Given the description of an element on the screen output the (x, y) to click on. 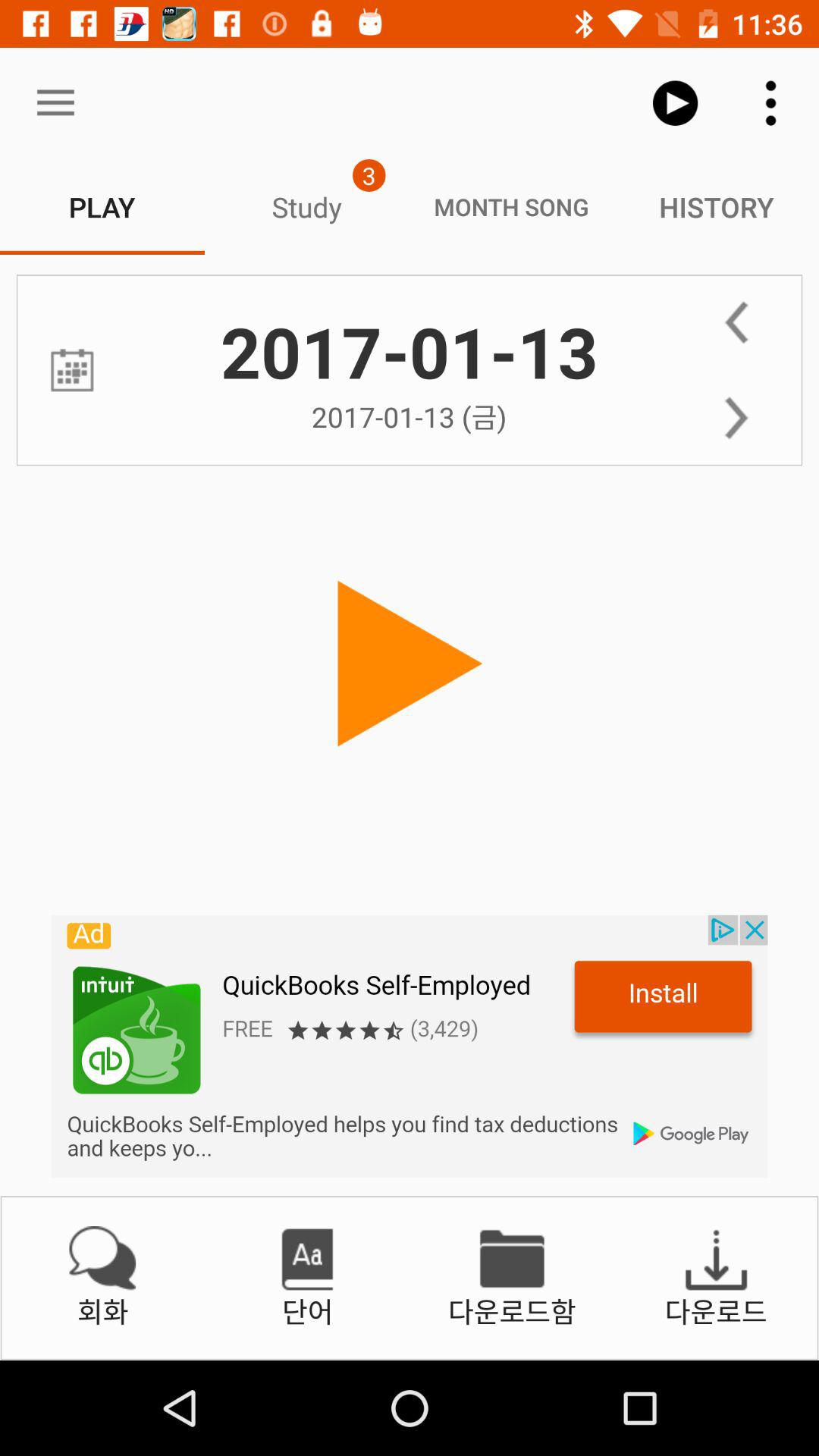
start playback (409, 663)
